Given the description of an element on the screen output the (x, y) to click on. 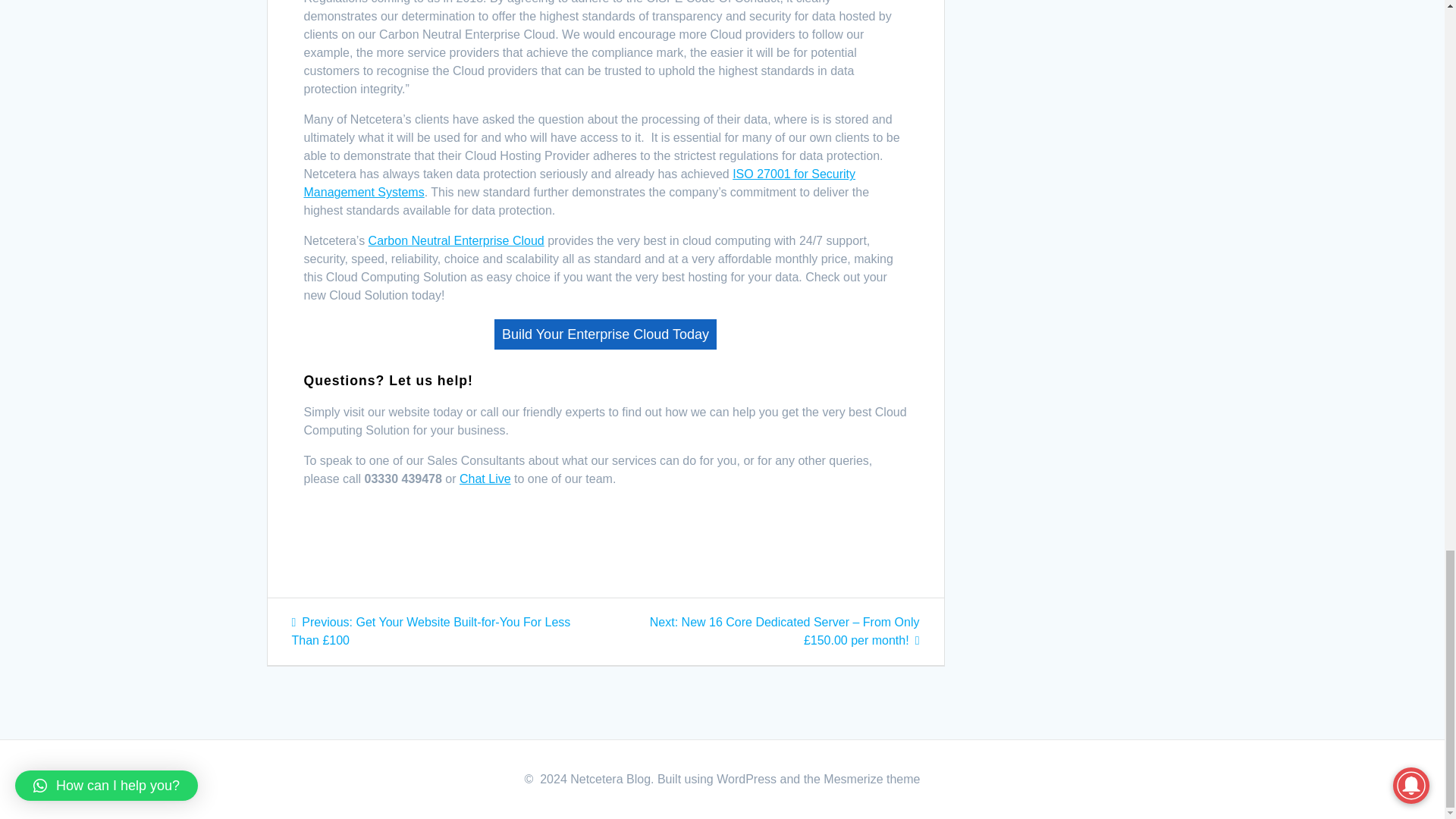
Chat Live (485, 478)
Build Your Enterprise Cloud Today (605, 334)
ISO 27001 for Security Management Systems (579, 183)
Carbon Neutral Enterprise Cloud (456, 240)
Mesmerize theme (872, 779)
